Given the description of an element on the screen output the (x, y) to click on. 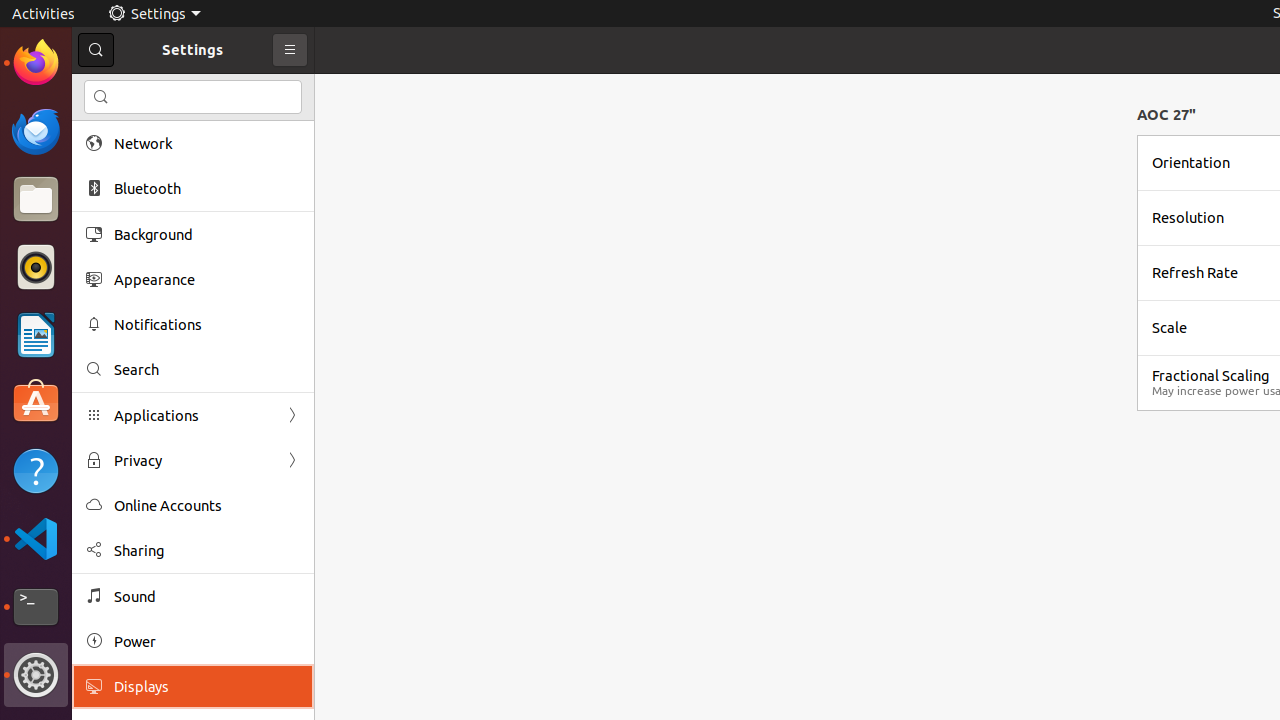
Sound Element type: label (207, 596)
Forward Element type: icon (292, 460)
Firefox Web Browser Element type: push-button (36, 63)
AOC 27" Element type: label (1166, 114)
Privacy Element type: label (193, 460)
